Given the description of an element on the screen output the (x, y) to click on. 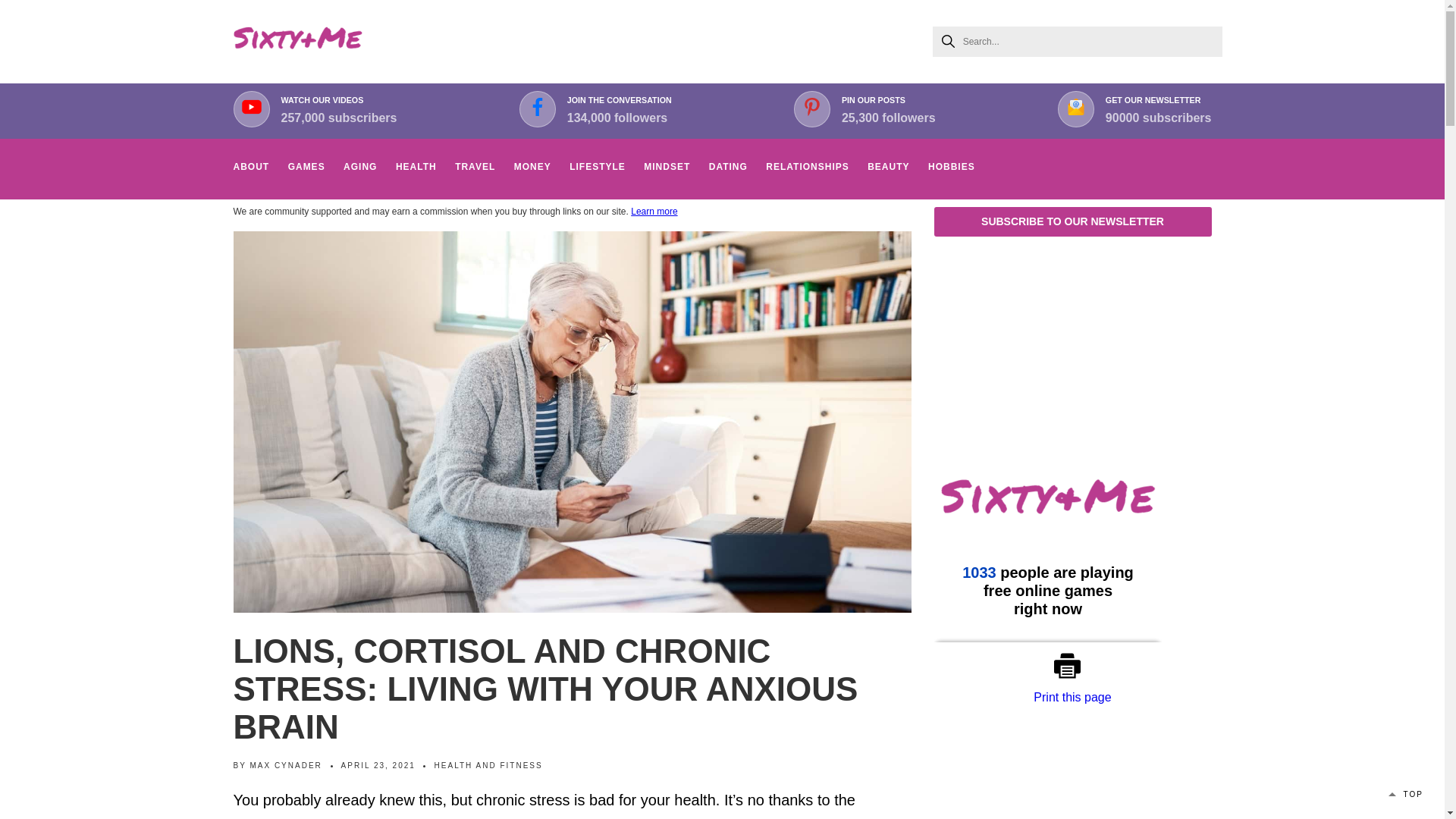
Sixty and Me (297, 40)
print this page (1071, 665)
Search... (1078, 41)
